Given the description of an element on the screen output the (x, y) to click on. 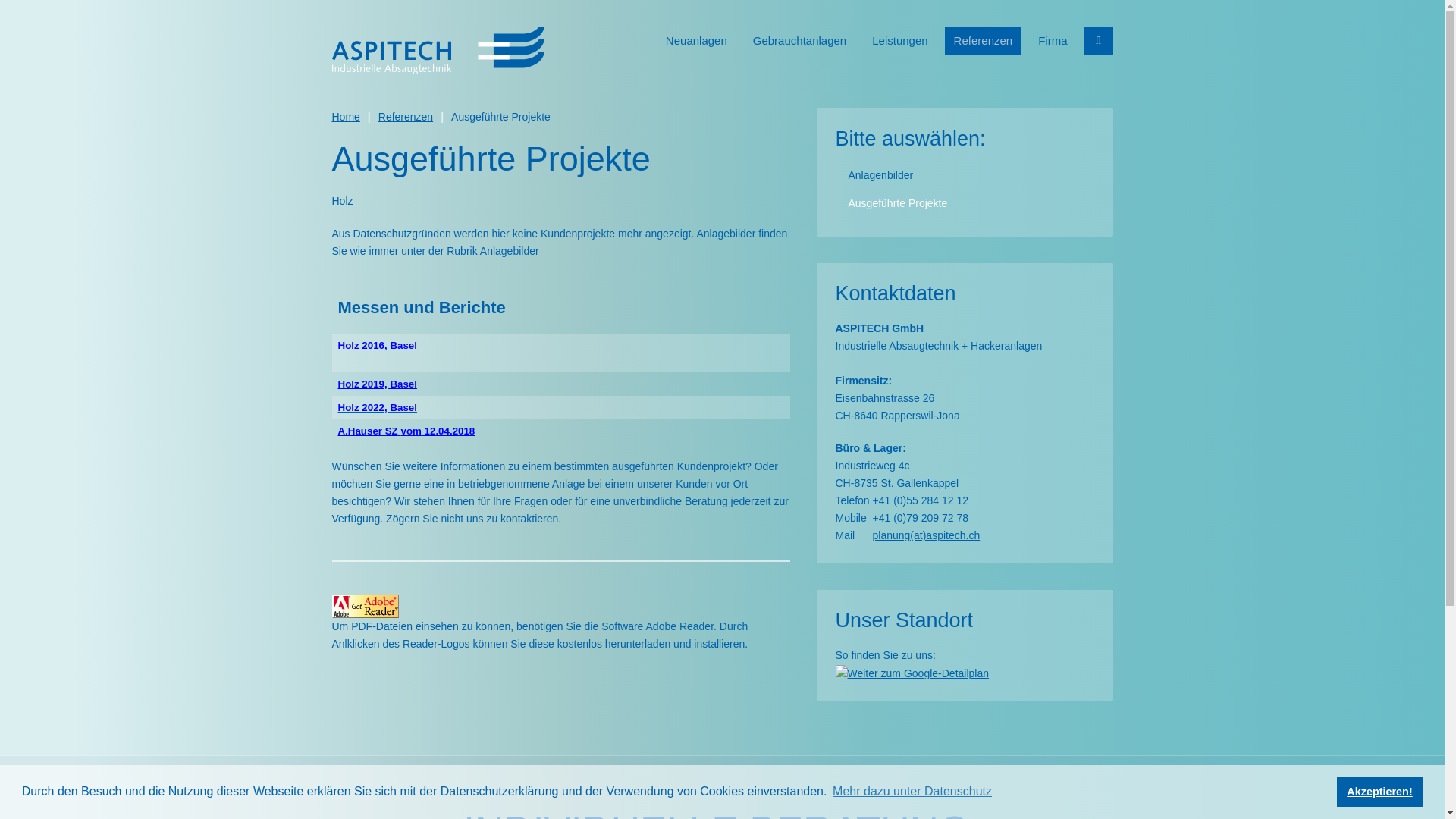
vom Element type: text (410, 430)
Mehr dazu unter Datenschutz Element type: text (912, 791)
Firma Element type: text (1052, 40)
Holz 2016, Basel  Element type: text (379, 344)
planung(at)aspitech.ch Element type: text (926, 535)
Weiter zum Google-Detailplan Element type: hover (912, 673)
Holz 2022, Basel Element type: text (377, 407)
Anlagenbilder Element type: text (964, 175)
Home Element type: text (346, 116)
A.Hauser SZ Element type: text (368, 430)
Referenzen Element type: text (405, 116)
Akzeptieren! Element type: text (1379, 791)
Holz Element type: text (342, 200)
Weiter zum Google-Detailplan Element type: hover (912, 672)
Neuanlagen Element type: text (696, 40)
Gebrauchtanlagen Element type: text (799, 40)
12.04.2018 Element type: text (447, 430)
Leistungen Element type: text (899, 40)
Holz 2019, Basel Element type: text (377, 383)
Referenzen Element type: text (983, 40)
